Given the description of an element on the screen output the (x, y) to click on. 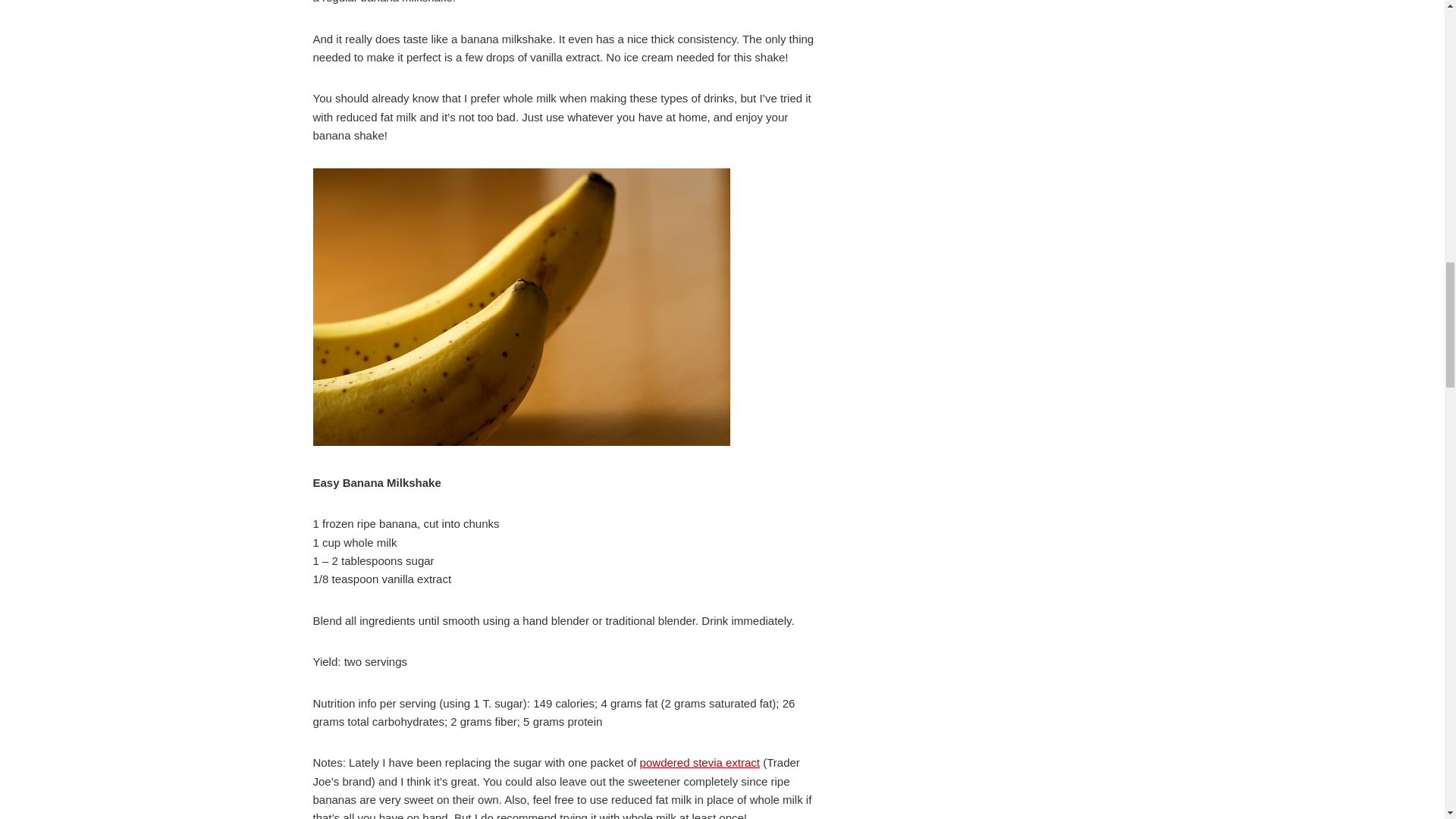
powdered stevia extract (700, 762)
Stevia on Wikipedia (700, 762)
